Given the description of an element on the screen output the (x, y) to click on. 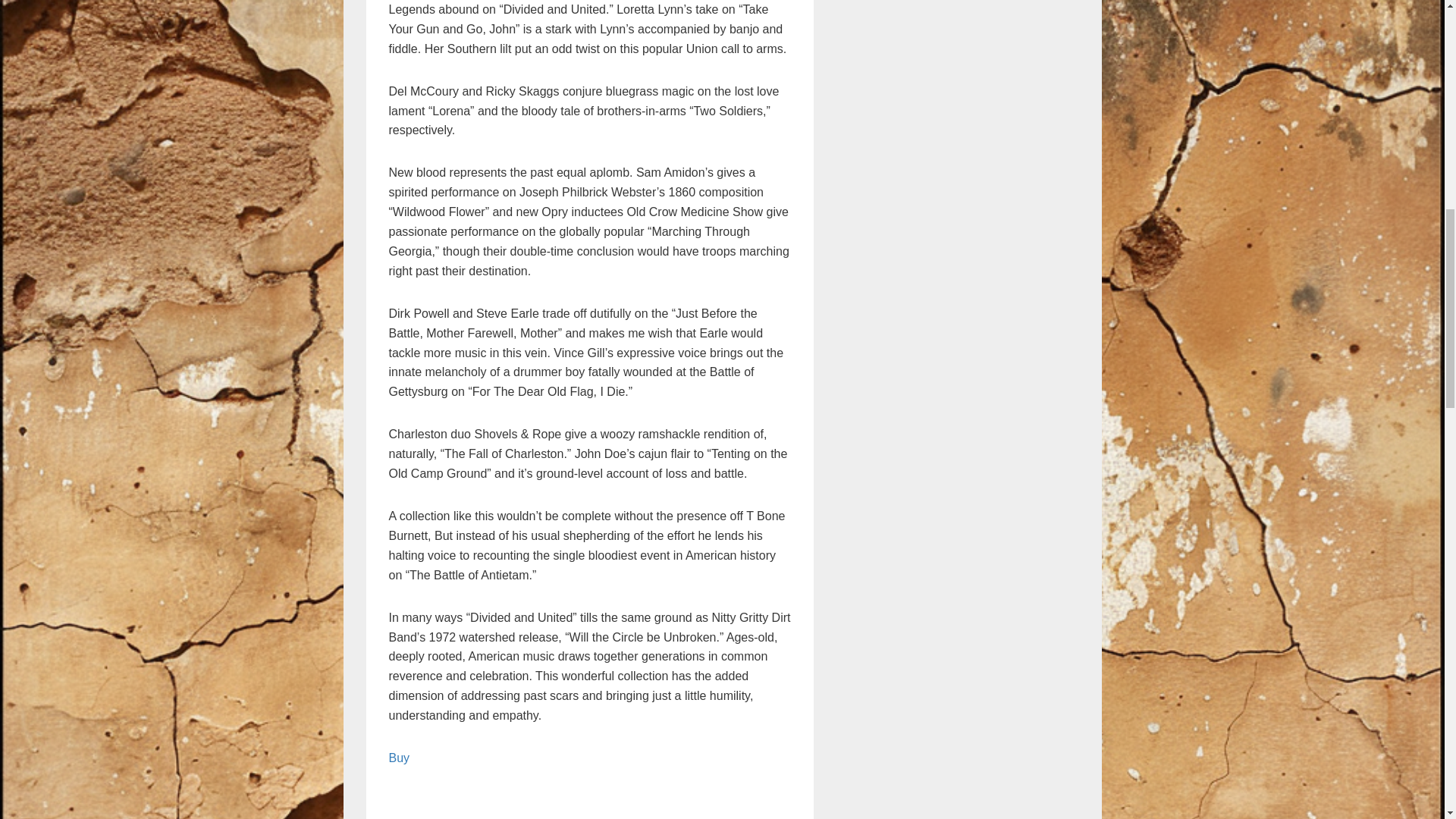
Buy (398, 757)
